Given the description of an element on the screen output the (x, y) to click on. 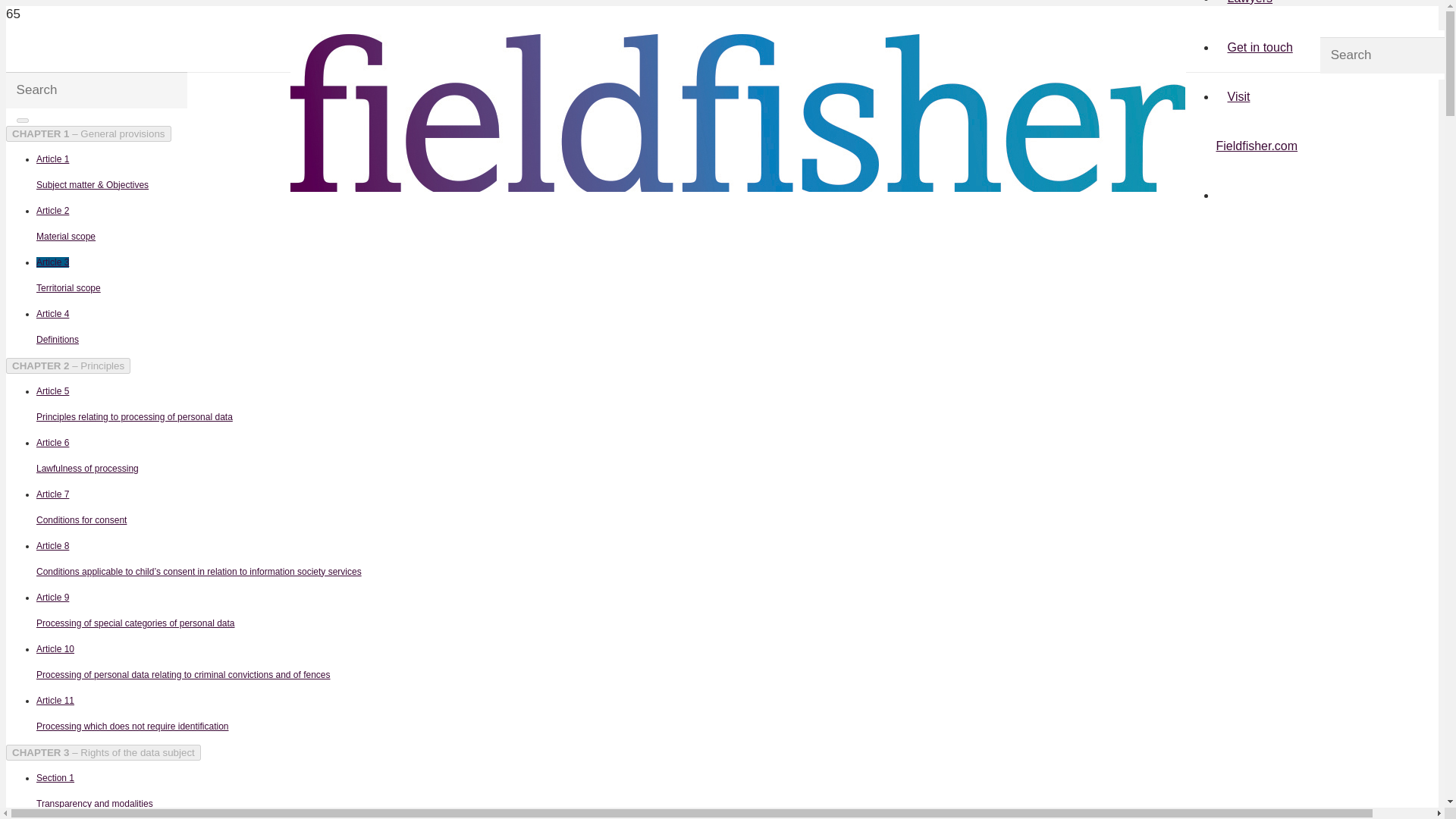
Get in touch (453, 405)
Lawyers (453, 328)
